Given the description of an element on the screen output the (x, y) to click on. 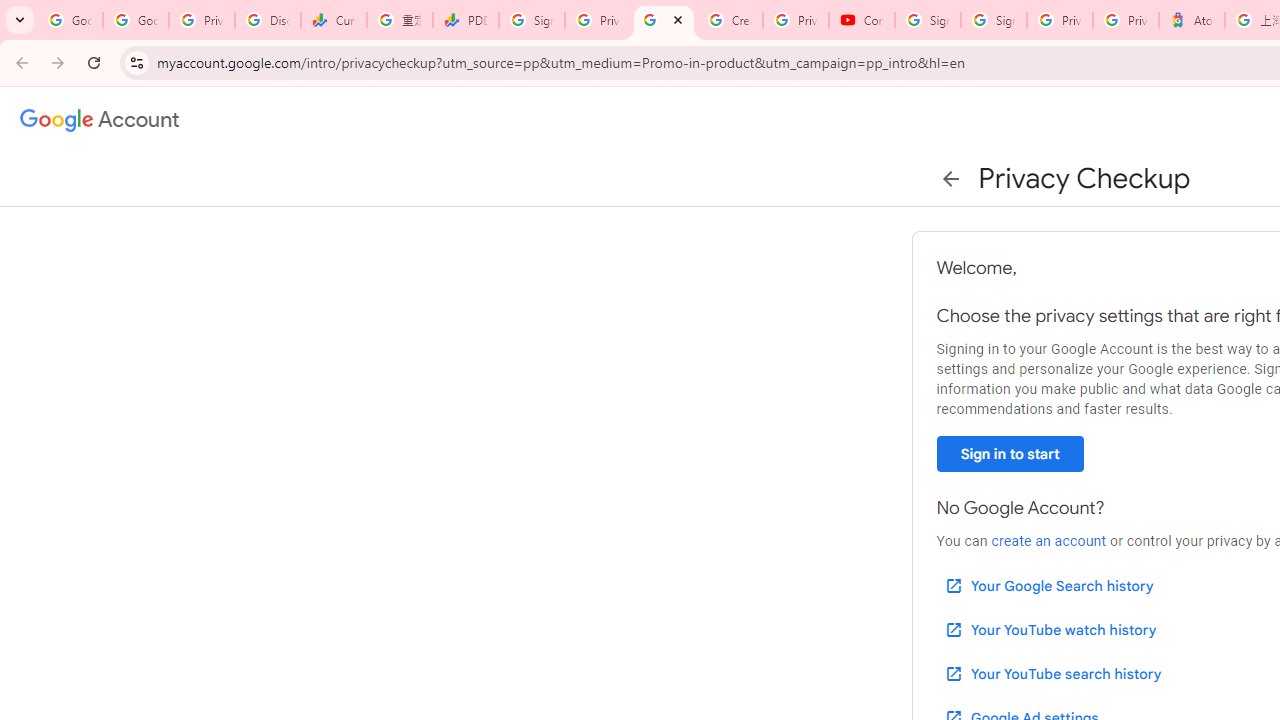
Content Creator Programs & Opportunities - YouTube Creators (861, 20)
PDD Holdings Inc - ADR (PDD) Price & News - Google Finance (465, 20)
Privacy Checkup (664, 20)
Sign in - Google Accounts (993, 20)
Your Google Search history (1048, 586)
Create your Google Account (729, 20)
